Given the description of an element on the screen output the (x, y) to click on. 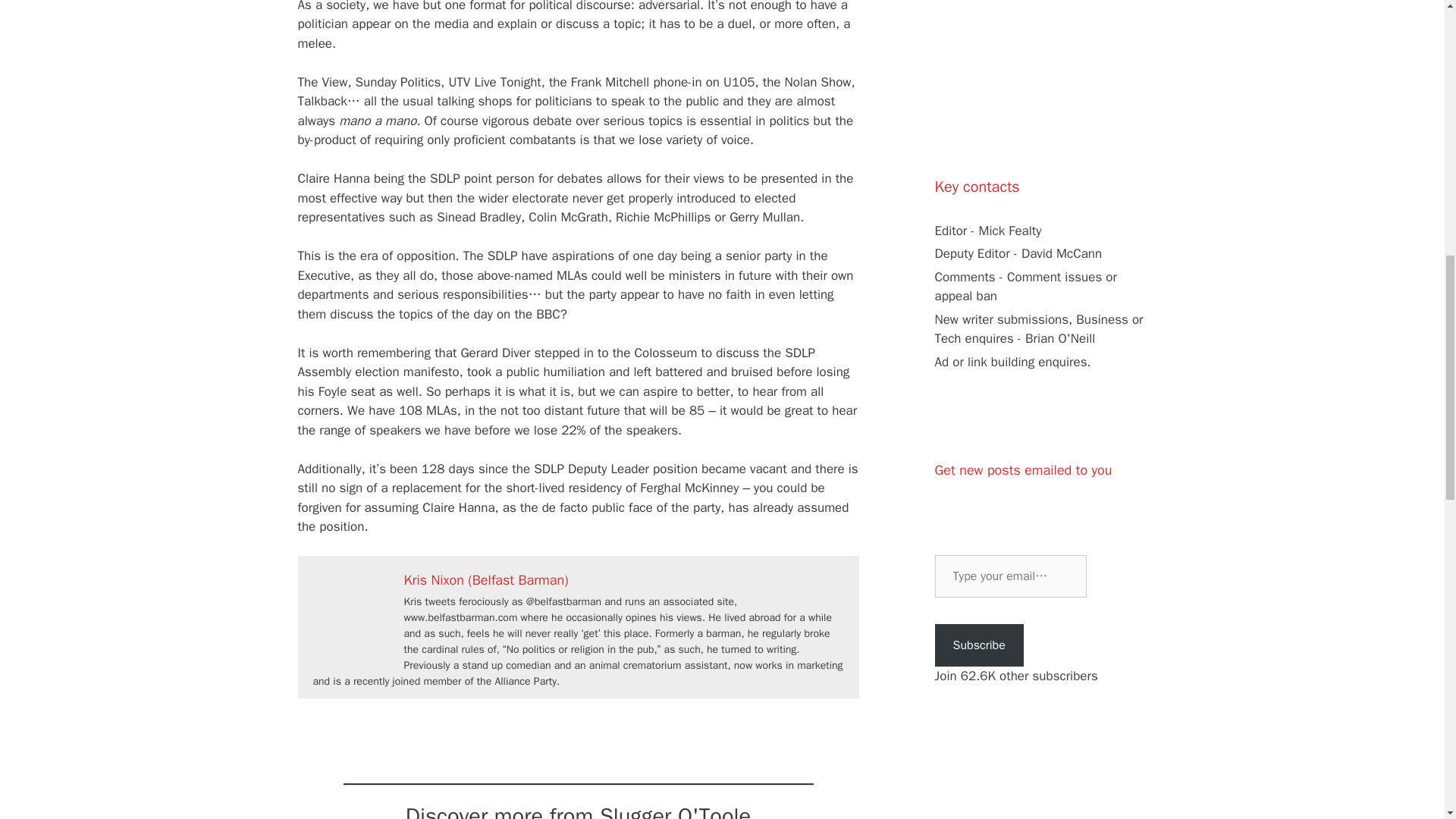
Please fill in this field. (1010, 576)
